Given the description of an element on the screen output the (x, y) to click on. 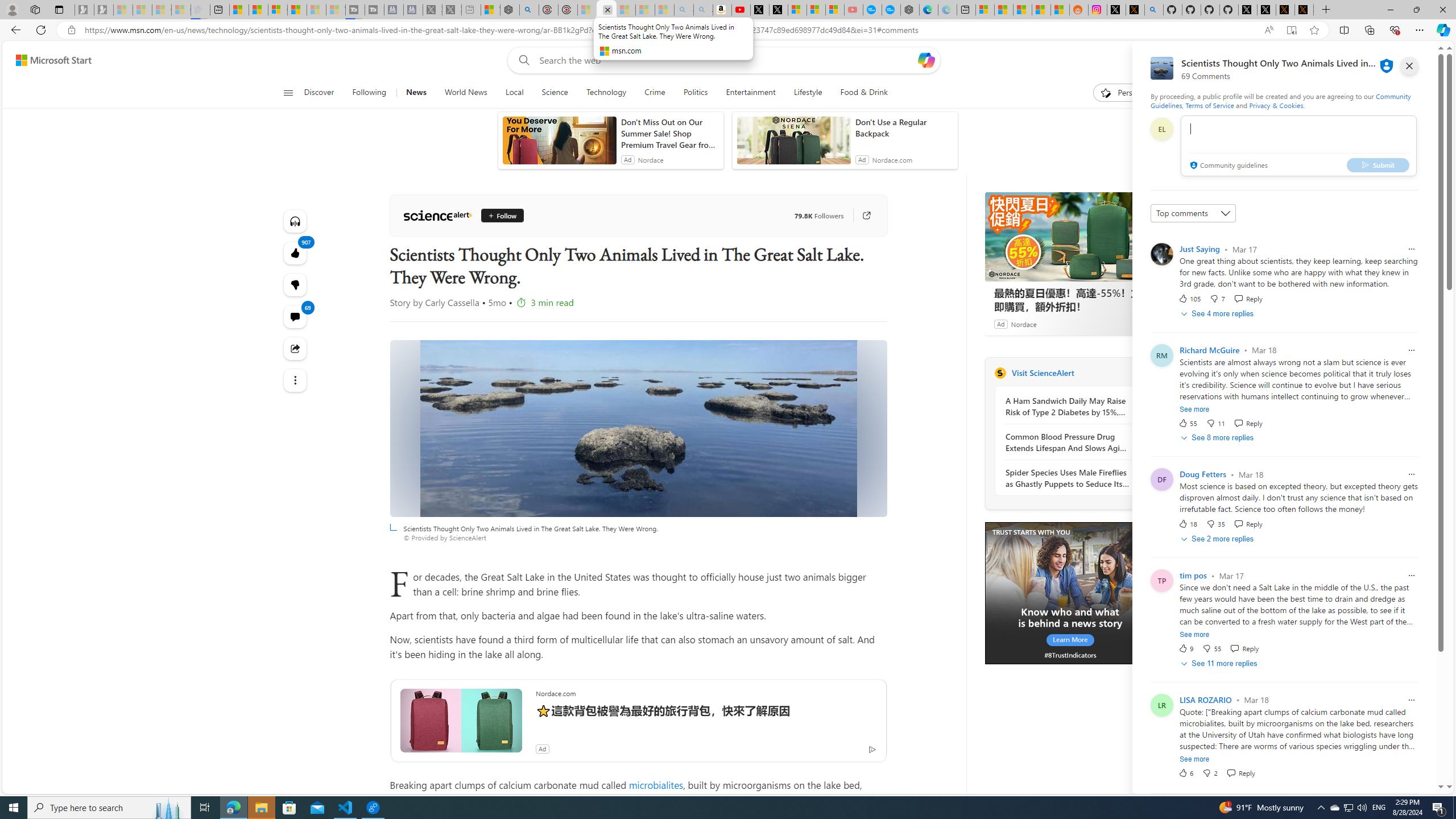
Richard McGuire (1209, 349)
Gloom - YouTube - Sleeping (853, 9)
See 4 more replies (1218, 313)
Skip to footer (46, 59)
Shanghai, China Weather trends | Microsoft Weather (1059, 9)
Web search (520, 60)
Community guidelines (1228, 165)
